Given the description of an element on the screen output the (x, y) to click on. 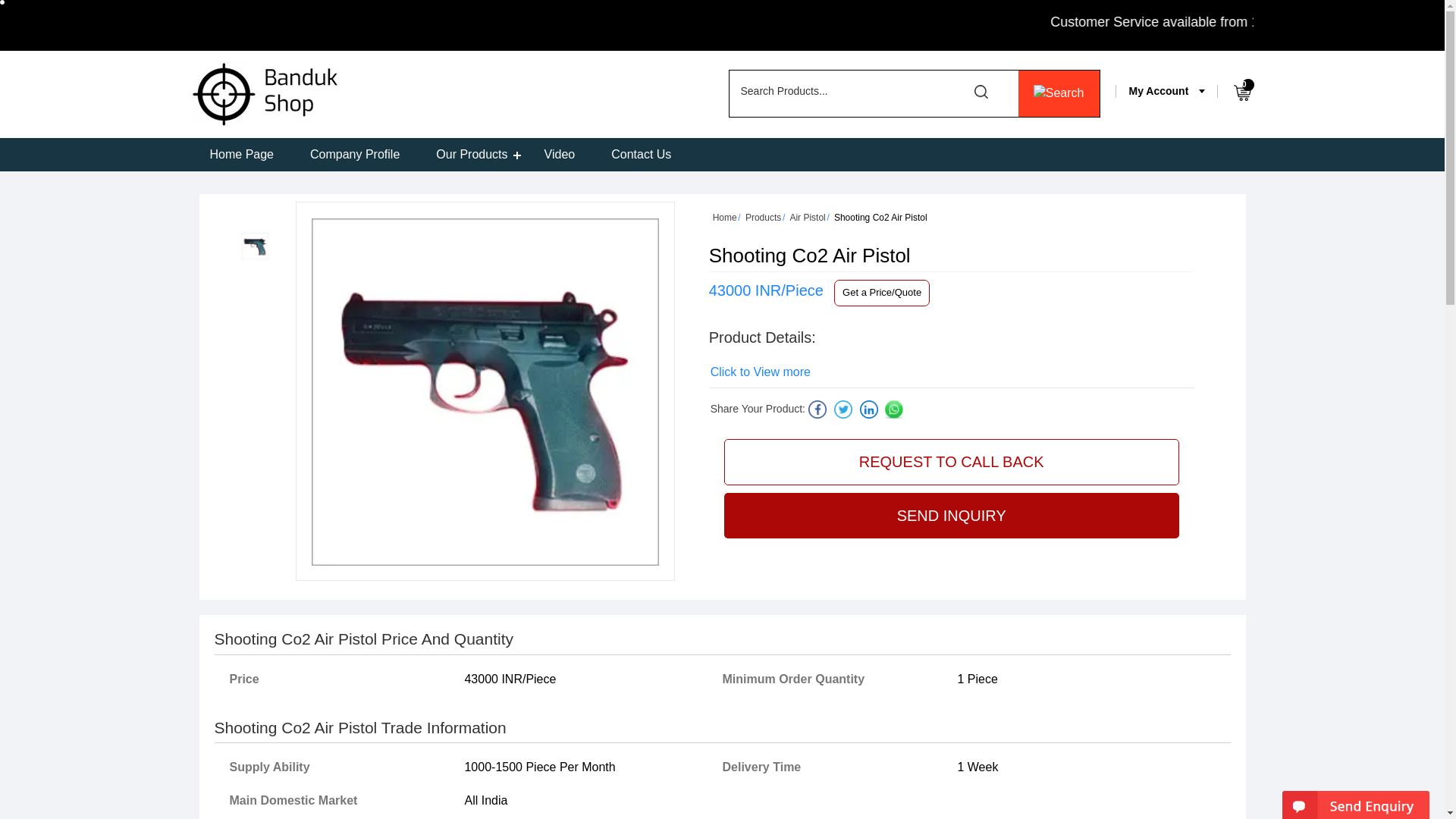
Our Products (471, 154)
Home Page (241, 154)
Search (1058, 93)
My Account (1159, 86)
Search (1058, 93)
Banduk Shop Atharva Gun House Sports (263, 94)
Company Profile (354, 154)
Search Products... (858, 91)
